Given the description of an element on the screen output the (x, y) to click on. 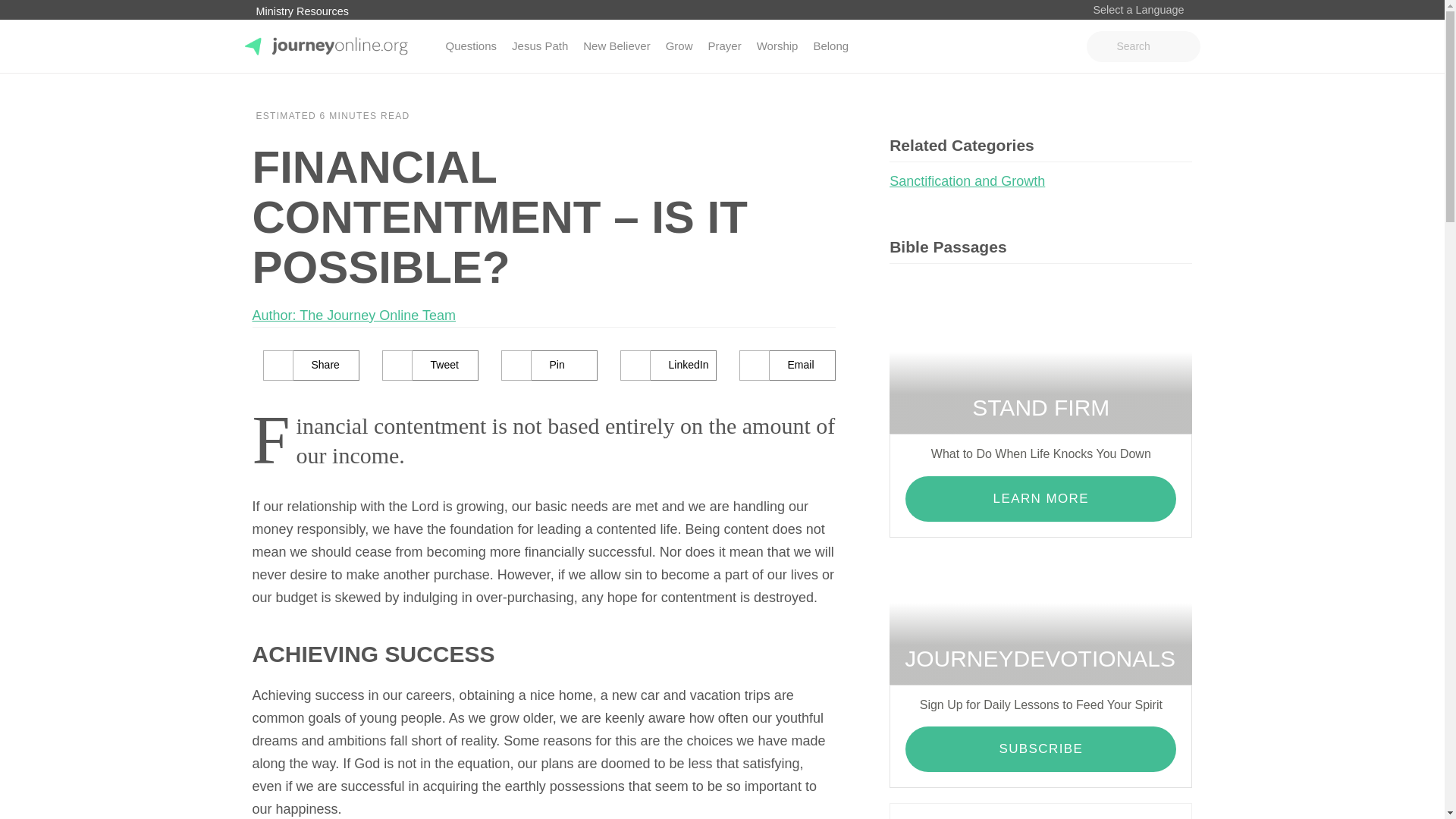
Worship (777, 46)
Belong (830, 46)
Save to Pinterest (550, 365)
LinkedIn (668, 365)
Author: The Journey Online Team (353, 314)
Questions (471, 46)
Grow (679, 46)
Jesus Path (539, 46)
New Believer (616, 46)
JourneyOnline (287, 95)
Sanctification and Growth (973, 181)
Email (787, 365)
Ministry Resources (301, 11)
Send over email (787, 365)
Share on Facebook (311, 365)
